Given the description of an element on the screen output the (x, y) to click on. 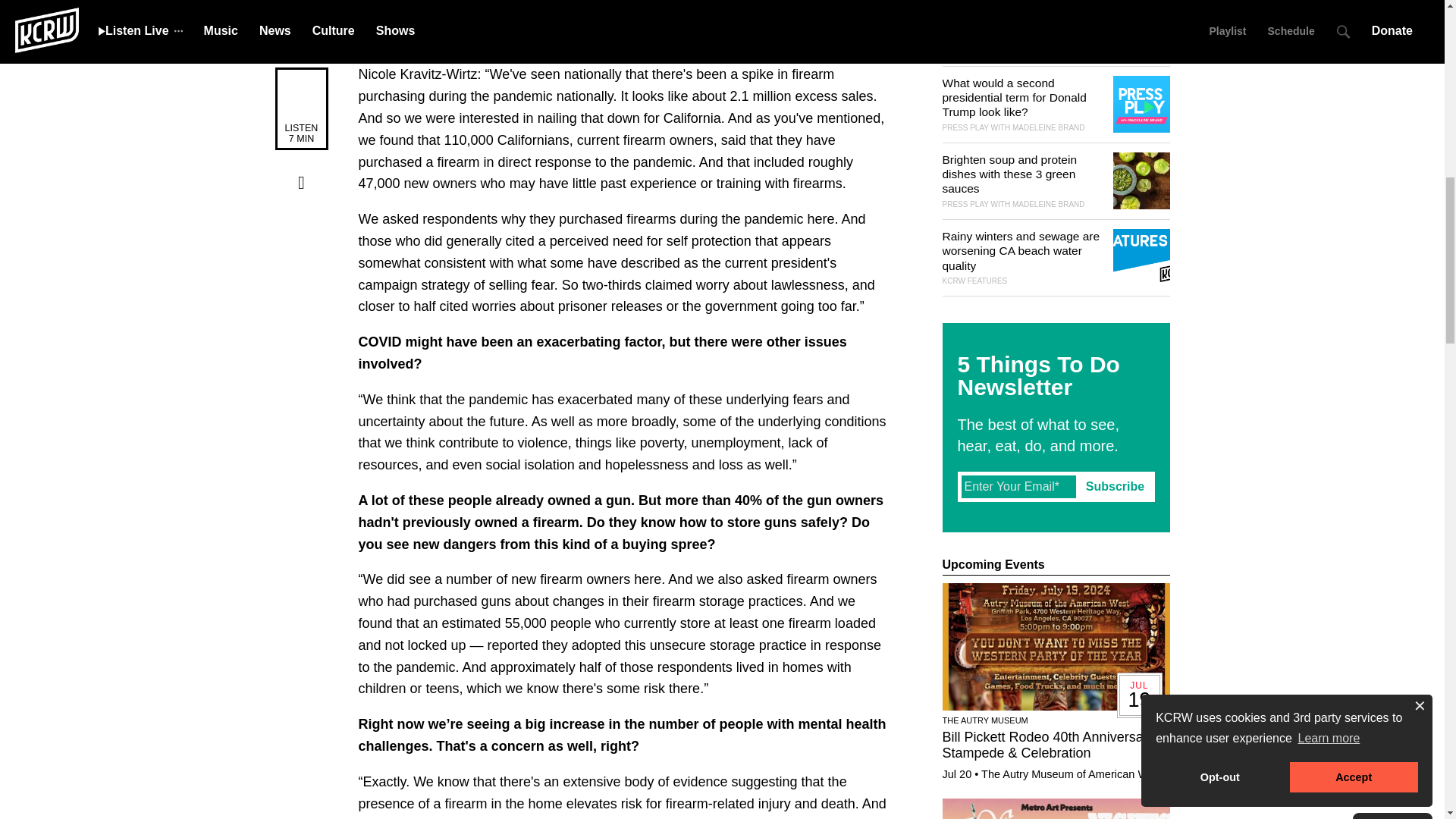
Subscribe (1114, 486)
